Given the description of an element on the screen output the (x, y) to click on. 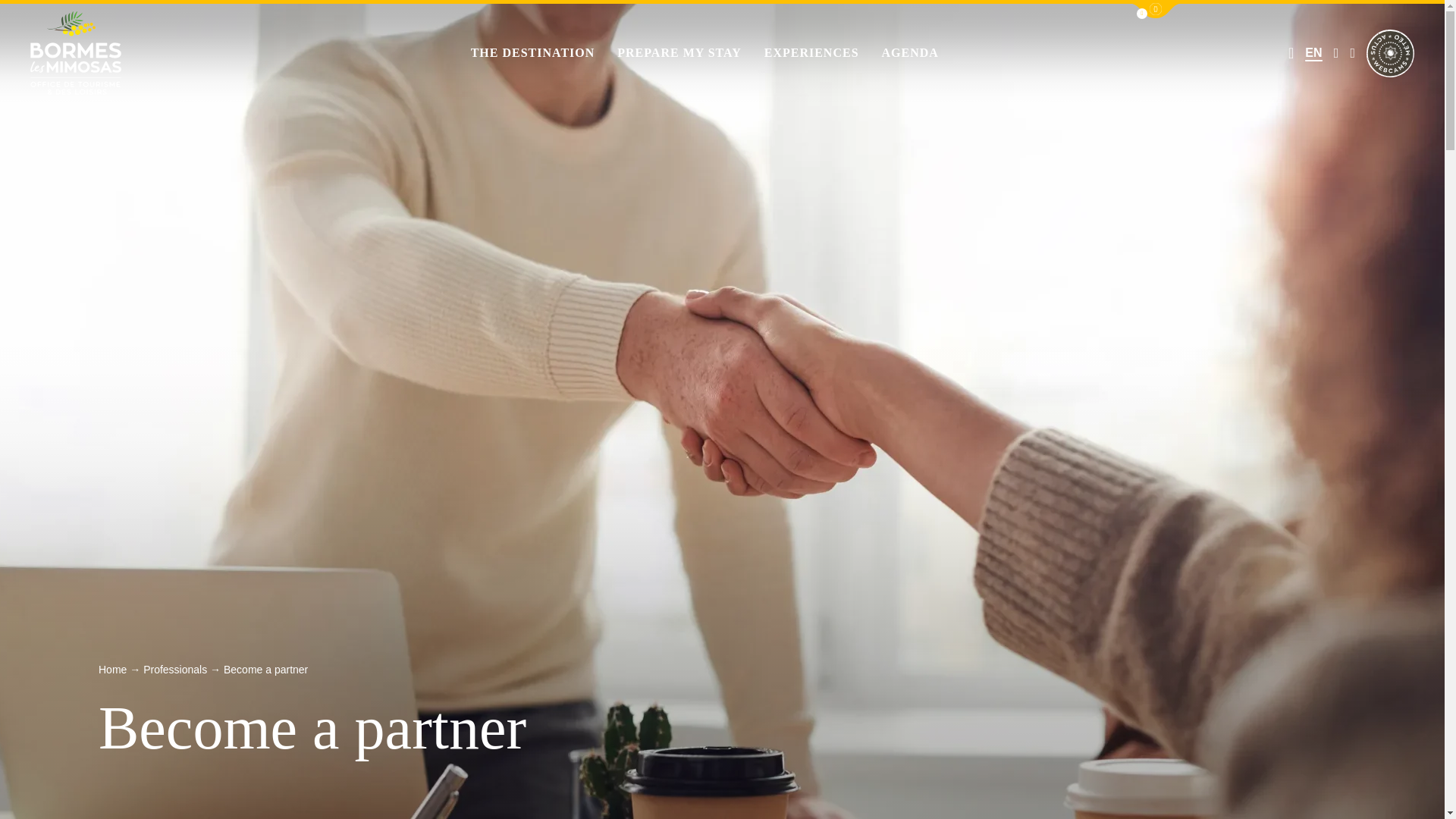
PREPARE MY STAY (679, 52)
THE DESTINATION (532, 52)
